Given the description of an element on the screen output the (x, y) to click on. 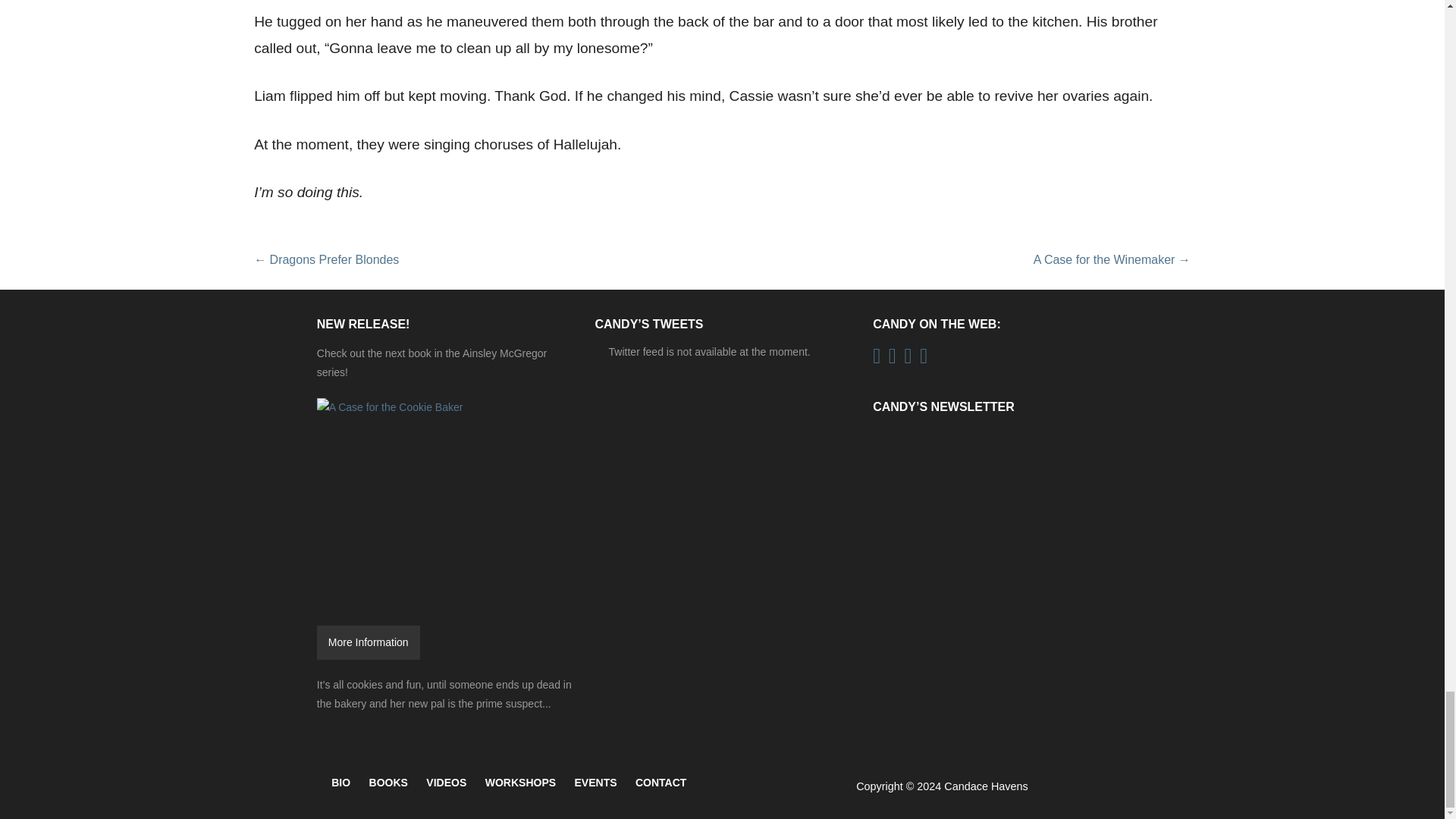
CONTACT (659, 784)
More Information (368, 642)
BIO (340, 784)
WORKSHOPS (520, 784)
EVENTS (596, 784)
VIDEOS (445, 784)
BOOKS (388, 784)
